Given the description of an element on the screen output the (x, y) to click on. 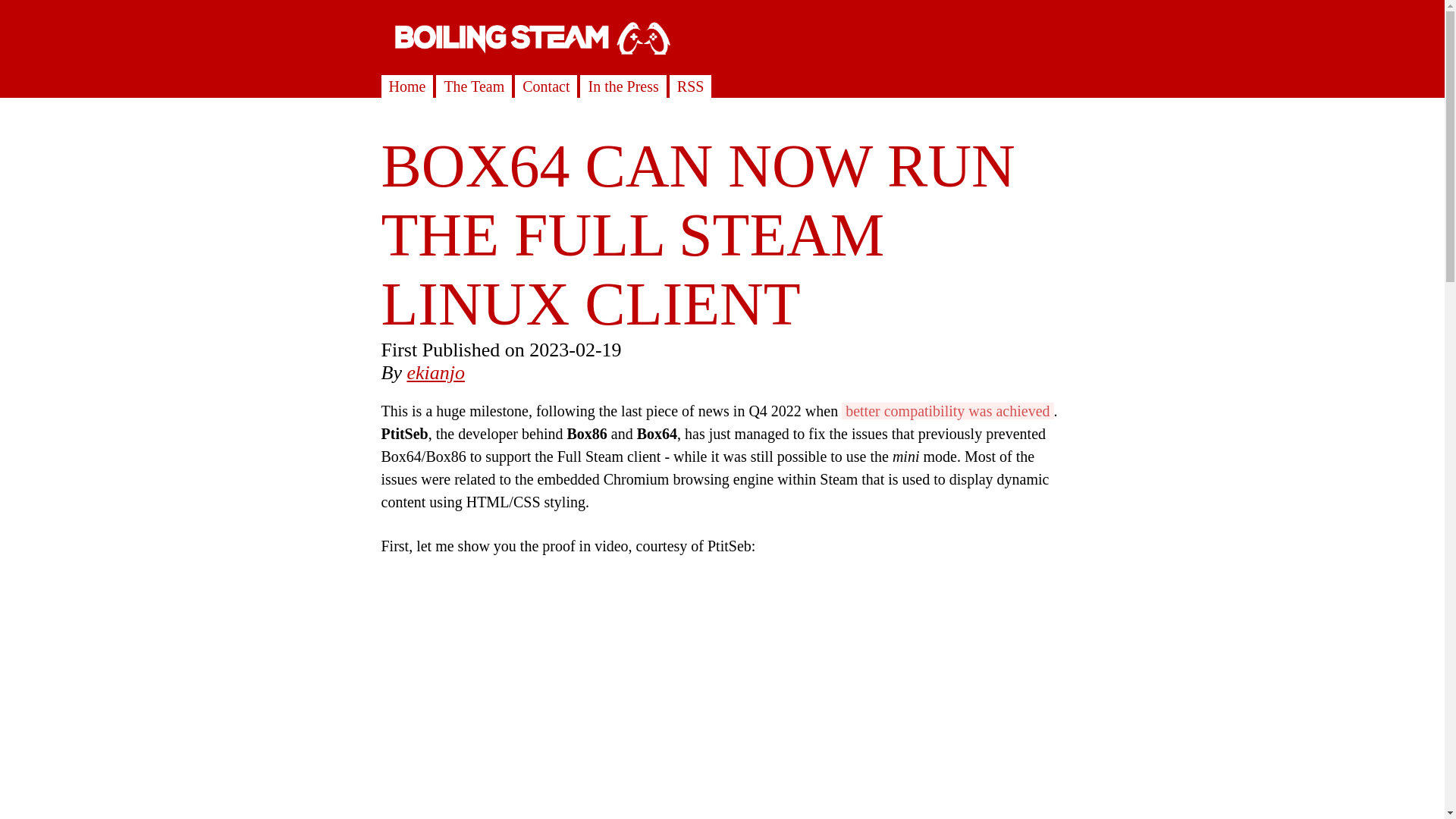
Home (406, 86)
Contact (545, 86)
RSS (690, 86)
better compatibility was achieved (946, 410)
BOX64 CAN NOW RUN THE FULL STEAM LINUX CLIENT (697, 234)
In the Press (623, 86)
The Team (473, 86)
ekianjo (435, 372)
